Given the description of an element on the screen output the (x, y) to click on. 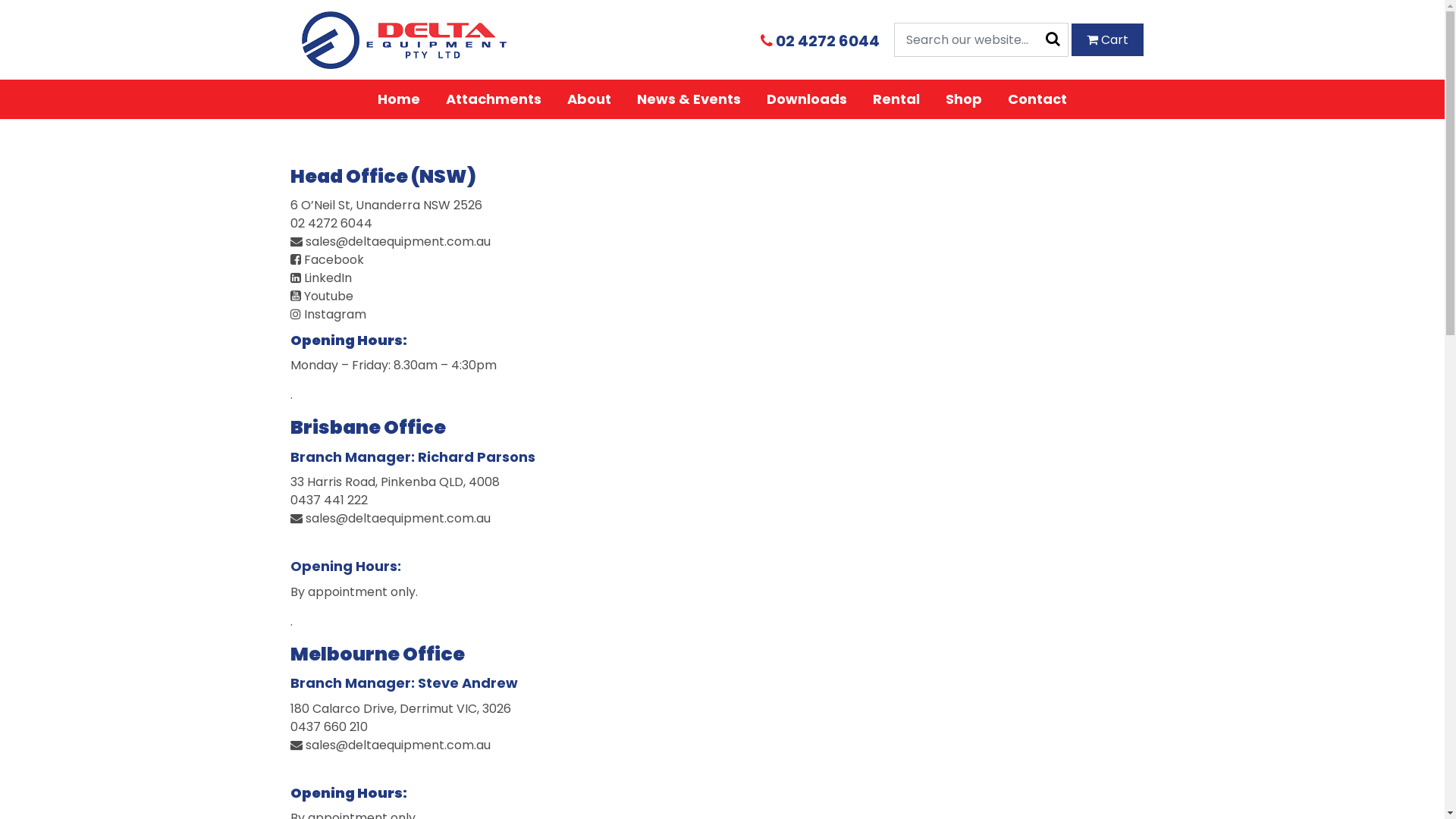
sales@deltaequipment.com.au Element type: text (721, 518)
sales@deltaequipment.com.au Element type: text (721, 241)
Shop Element type: text (963, 99)
News & Events Element type: text (688, 99)
Instagram Element type: text (721, 314)
Contact Element type: text (1037, 99)
Facebook Element type: text (721, 260)
Attachments Element type: text (493, 99)
About Element type: text (588, 99)
LinkedIn Element type: text (721, 278)
Youtube Element type: text (721, 296)
Downloads Element type: text (806, 99)
Home Element type: text (398, 99)
02 4272 6044 Element type: text (824, 39)
Rental Element type: text (896, 99)
sales@deltaequipment.com.au Element type: text (721, 745)
Cart Element type: text (1106, 39)
